Given the description of an element on the screen output the (x, y) to click on. 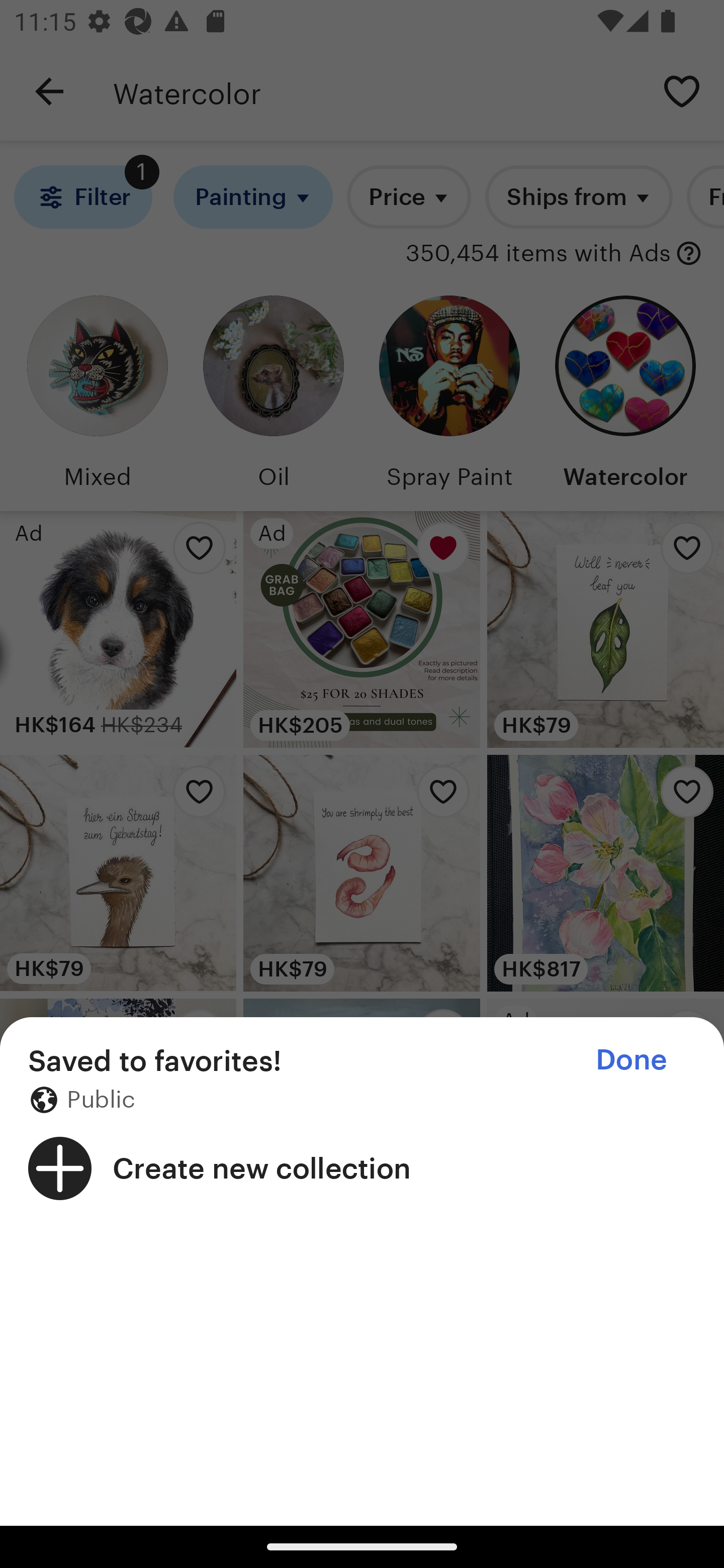
Done (630, 1059)
Create new collection (361, 1167)
